Given the description of an element on the screen output the (x, y) to click on. 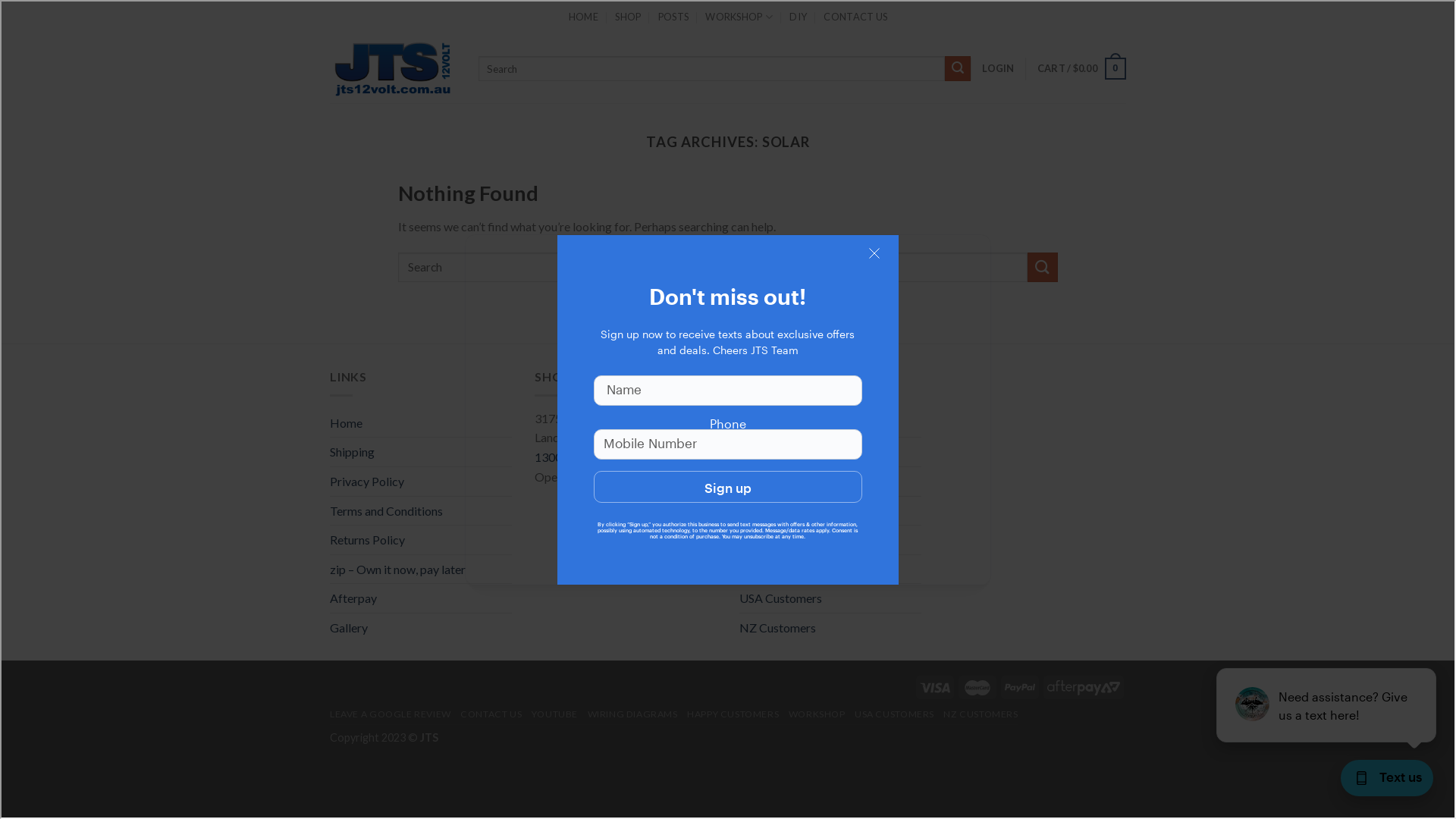
HAPPY CUSTOMERS Element type: text (732, 713)
POSTS Element type: text (673, 16)
LEAVE A GOOGLE REVIEW Element type: text (390, 713)
Workshop Element type: text (766, 569)
WORKSHOP Element type: text (816, 713)
Happy Customers Element type: text (786, 539)
Wiring Diagrams Element type: text (783, 510)
LOGIN Element type: text (997, 68)
CONTACT US Element type: text (855, 16)
WIRING DIAGRAMS Element type: text (631, 713)
Youtube Element type: text (761, 481)
CART / $0.00
0 Element type: text (1081, 68)
Returns Policy Element type: text (366, 539)
Afterpay Element type: text (352, 597)
NZ CUSTOMERS Element type: text (980, 713)
JTS 12volt - 4WD Camping and 12 Volt Element type: hover (392, 68)
Privacy Policy Element type: text (366, 481)
NZ Customers Element type: text (777, 627)
SHOP Element type: text (627, 16)
Search Element type: text (957, 68)
Home Element type: text (345, 422)
USA Customers Element type: text (780, 597)
Shipping Element type: text (351, 451)
DIY Element type: text (797, 16)
USA CUSTOMERS Element type: text (894, 713)
YOUTUBE Element type: text (554, 713)
Leave a Google Review Element type: text (799, 422)
HOME Element type: text (583, 16)
1300 377 128 Element type: text (570, 456)
WORKSHOP Element type: text (738, 16)
Contact US Element type: text (769, 451)
CONTACT US Element type: text (490, 713)
Terms and Conditions Element type: text (385, 510)
Gallery Element type: text (348, 627)
